Given the description of an element on the screen output the (x, y) to click on. 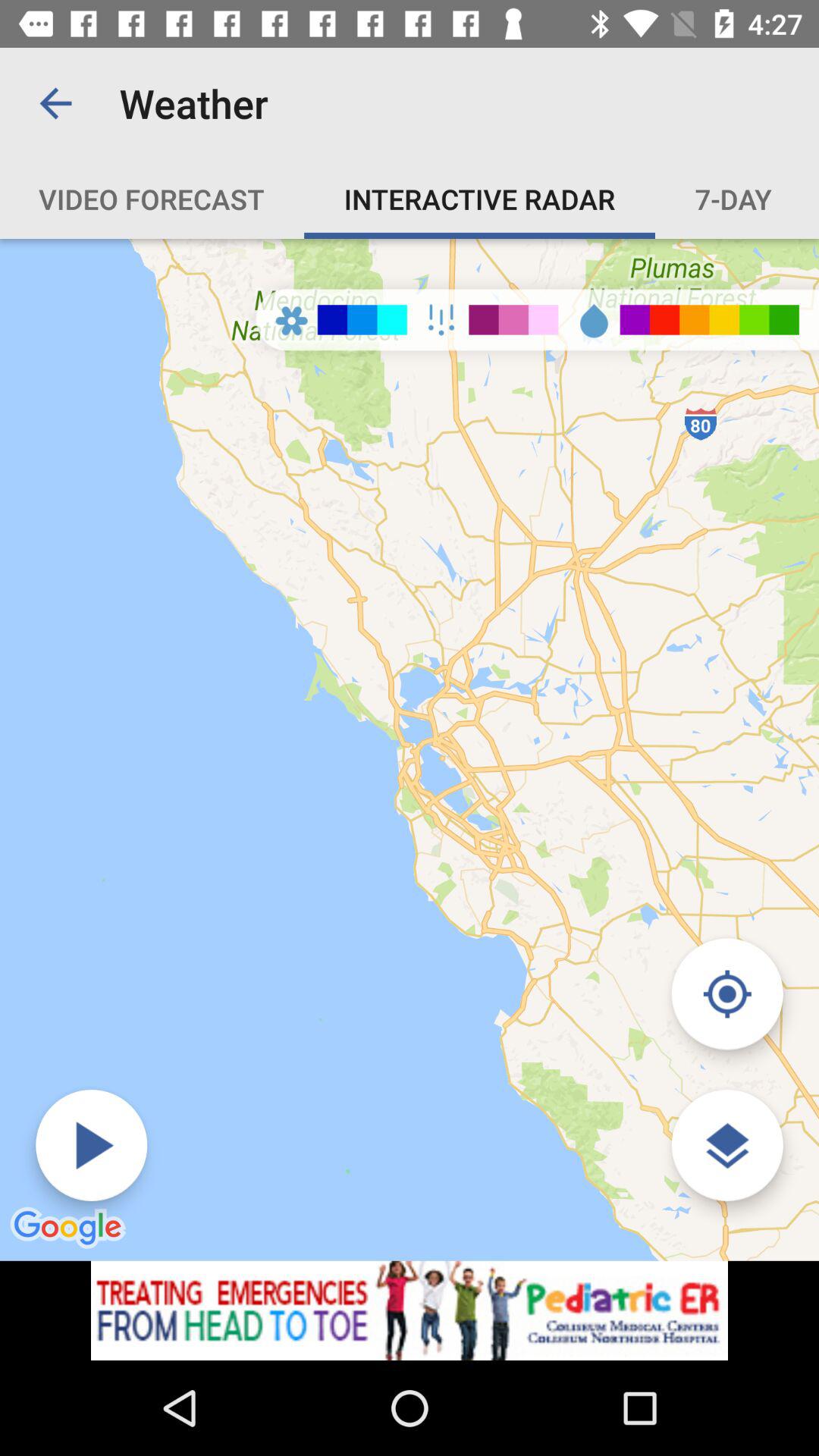
selected button (727, 993)
